Given the description of an element on the screen output the (x, y) to click on. 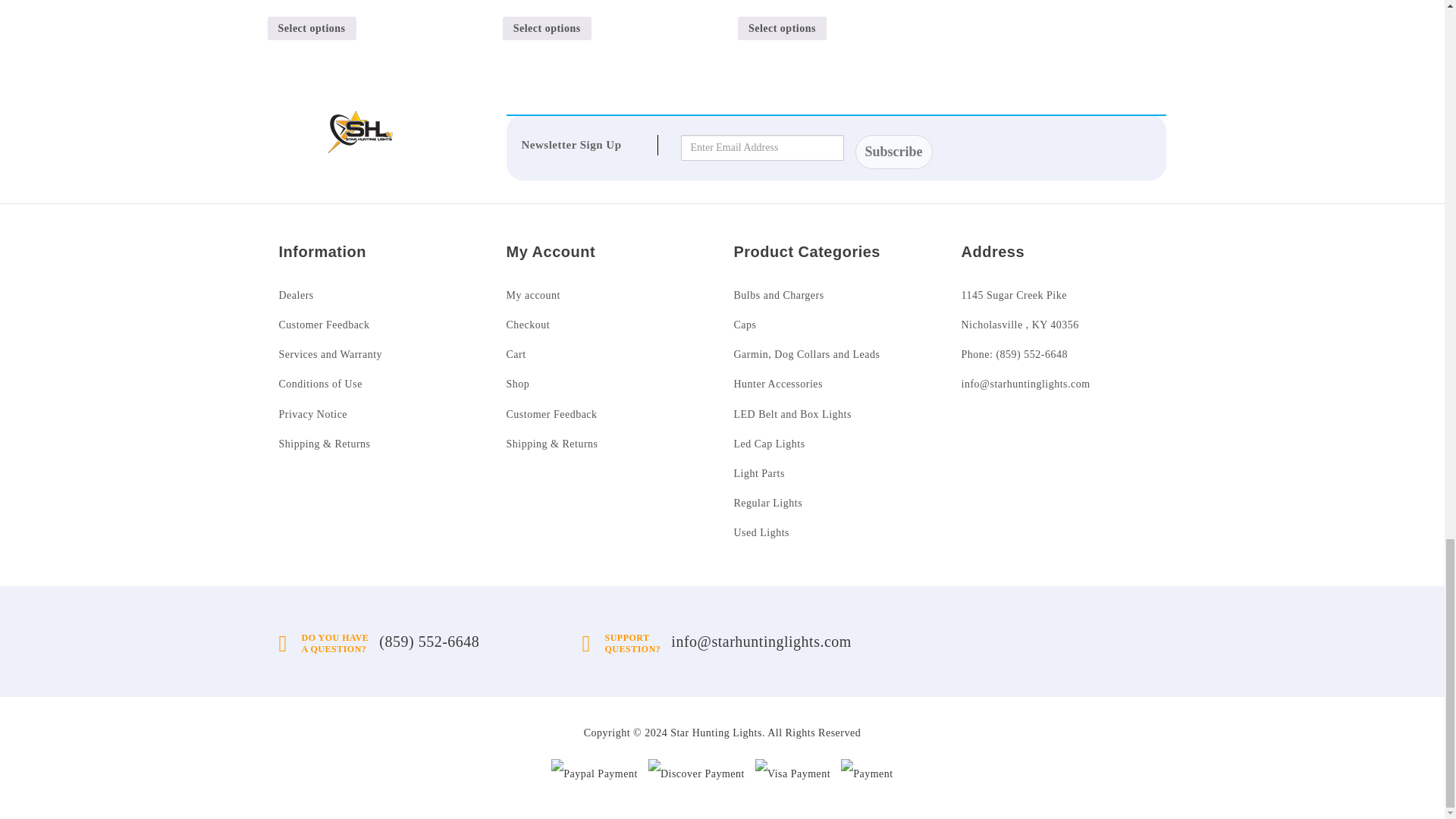
Select options (546, 28)
Select options (310, 28)
Discover (695, 772)
Subscribe (894, 151)
PayPal (594, 772)
MasterCard (867, 772)
Visa (792, 772)
